Given the description of an element on the screen output the (x, y) to click on. 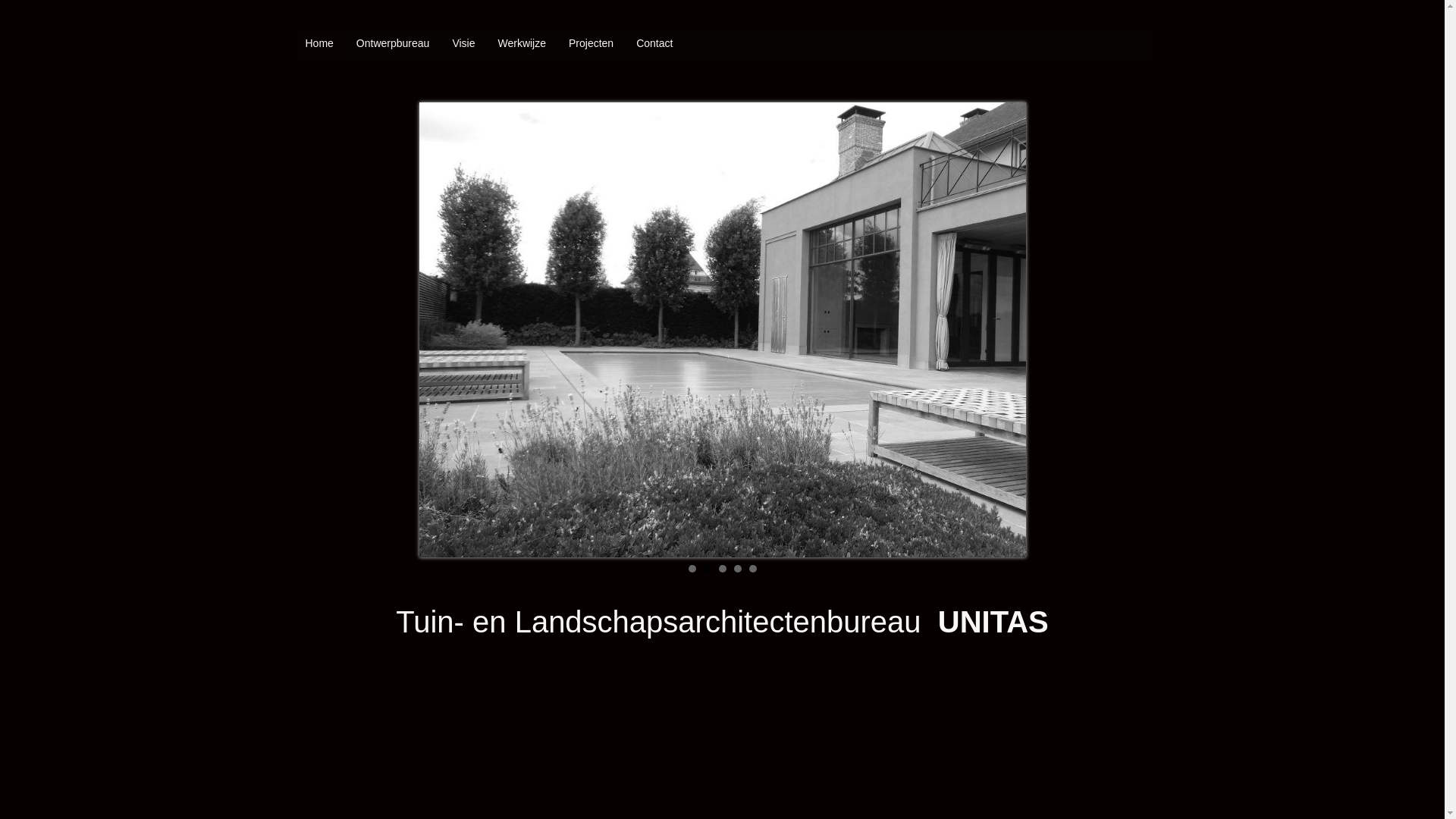
1 Element type: text (692, 568)
4 Element type: text (737, 568)
3 Element type: text (722, 568)
Werkwijze Element type: text (521, 43)
Visie Element type: text (463, 43)
Home Element type: text (319, 43)
2 Element type: text (707, 568)
Projecten Element type: text (590, 43)
Ontwerpbureau Element type: text (393, 43)
5 Element type: text (752, 568)
Contact Element type: text (654, 43)
